Given the description of an element on the screen output the (x, y) to click on. 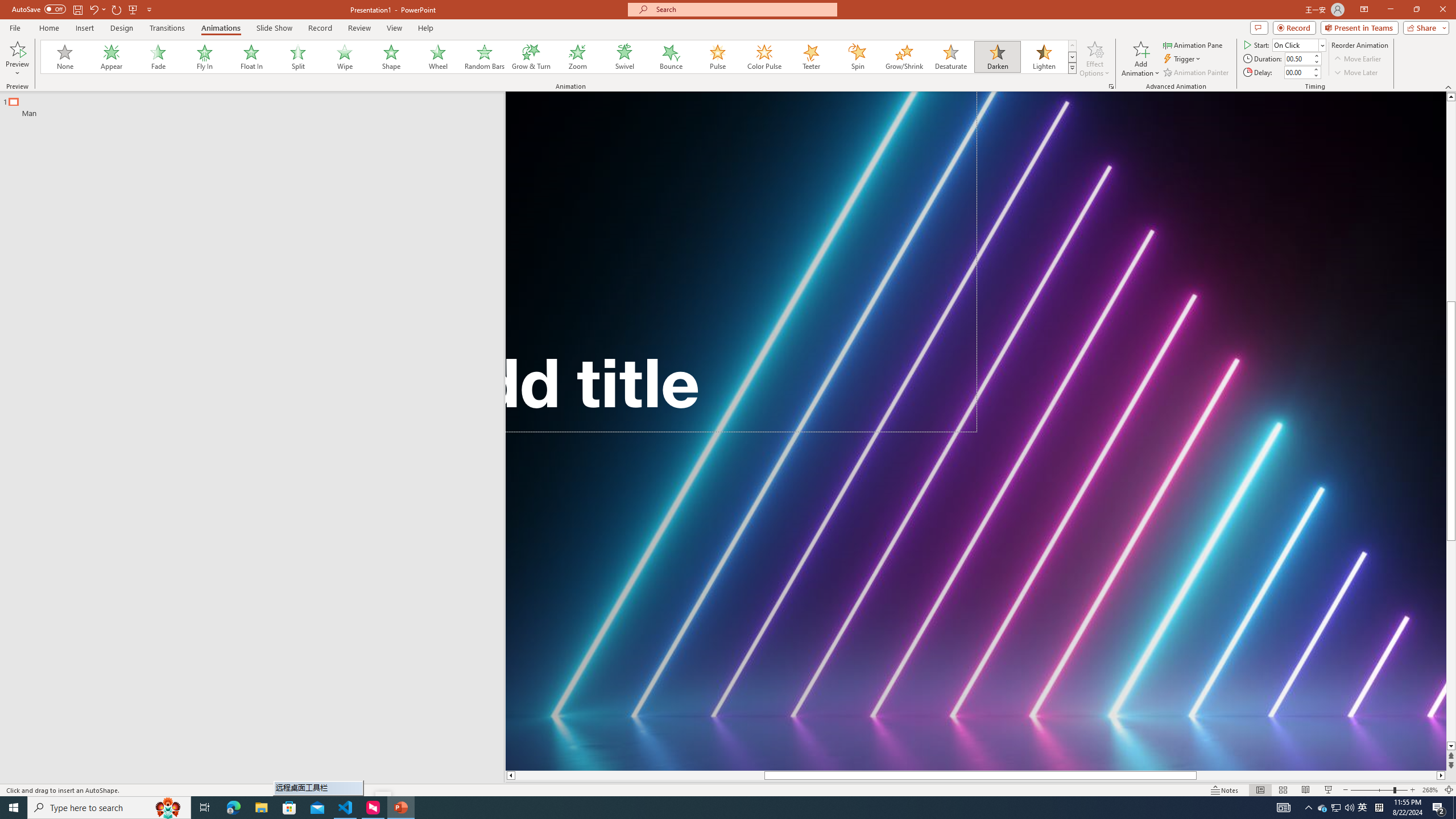
Float In (251, 56)
